Given the description of an element on the screen output the (x, y) to click on. 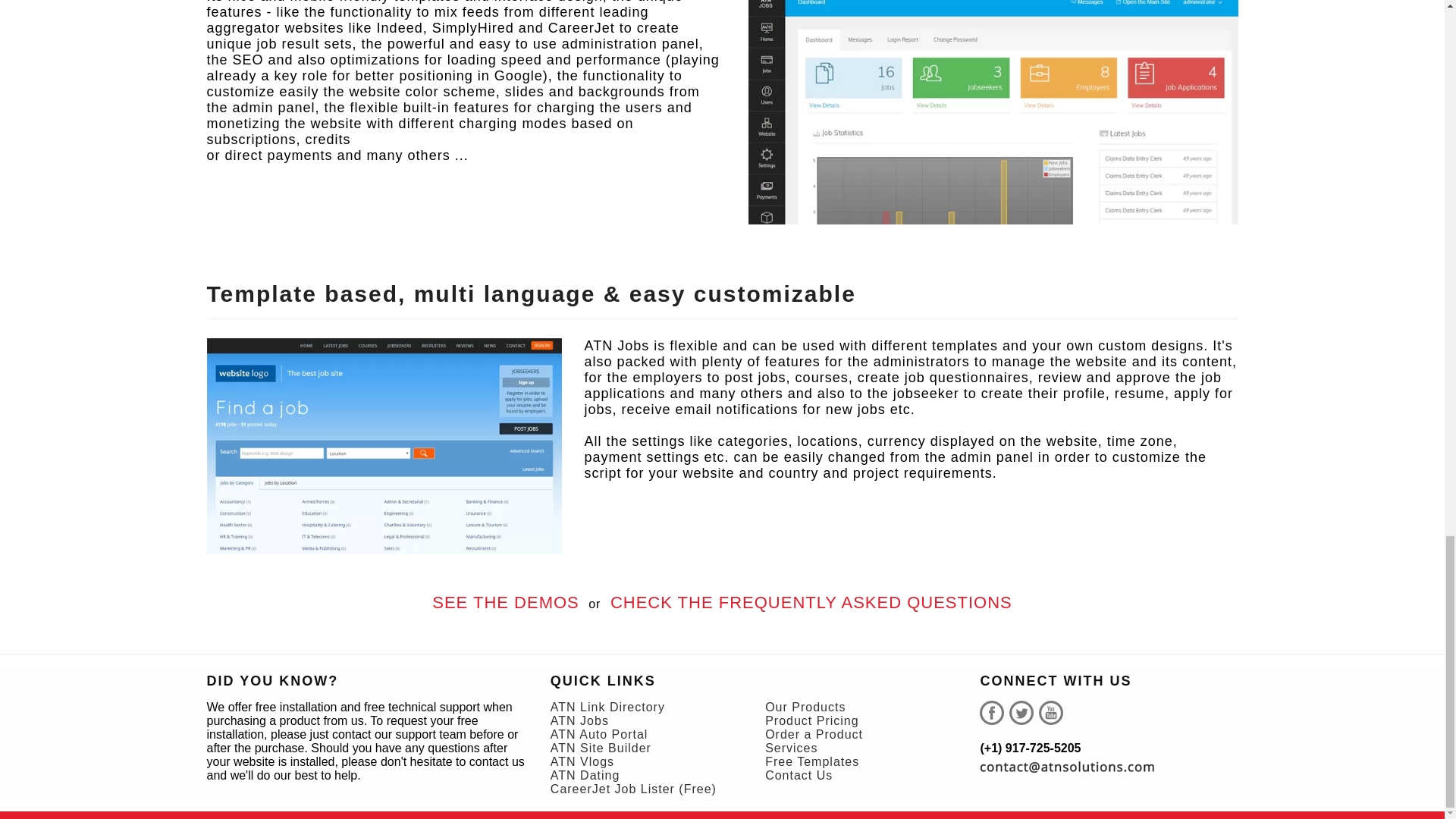
ATN Auto Portal (598, 734)
Free Templates (812, 761)
ATN Jobs (579, 720)
ATN Dating (585, 775)
CHECK THE FREQUENTLY ASKED QUESTIONS (811, 602)
Our Products (805, 707)
ATN Link Directory (607, 707)
ATN Site Builder (600, 748)
Product Pricing (812, 720)
ATN Vlogs (582, 761)
Services (790, 748)
Order a Product (814, 734)
SEE THE DEMOS (505, 602)
Contact Us (798, 775)
